Given the description of an element on the screen output the (x, y) to click on. 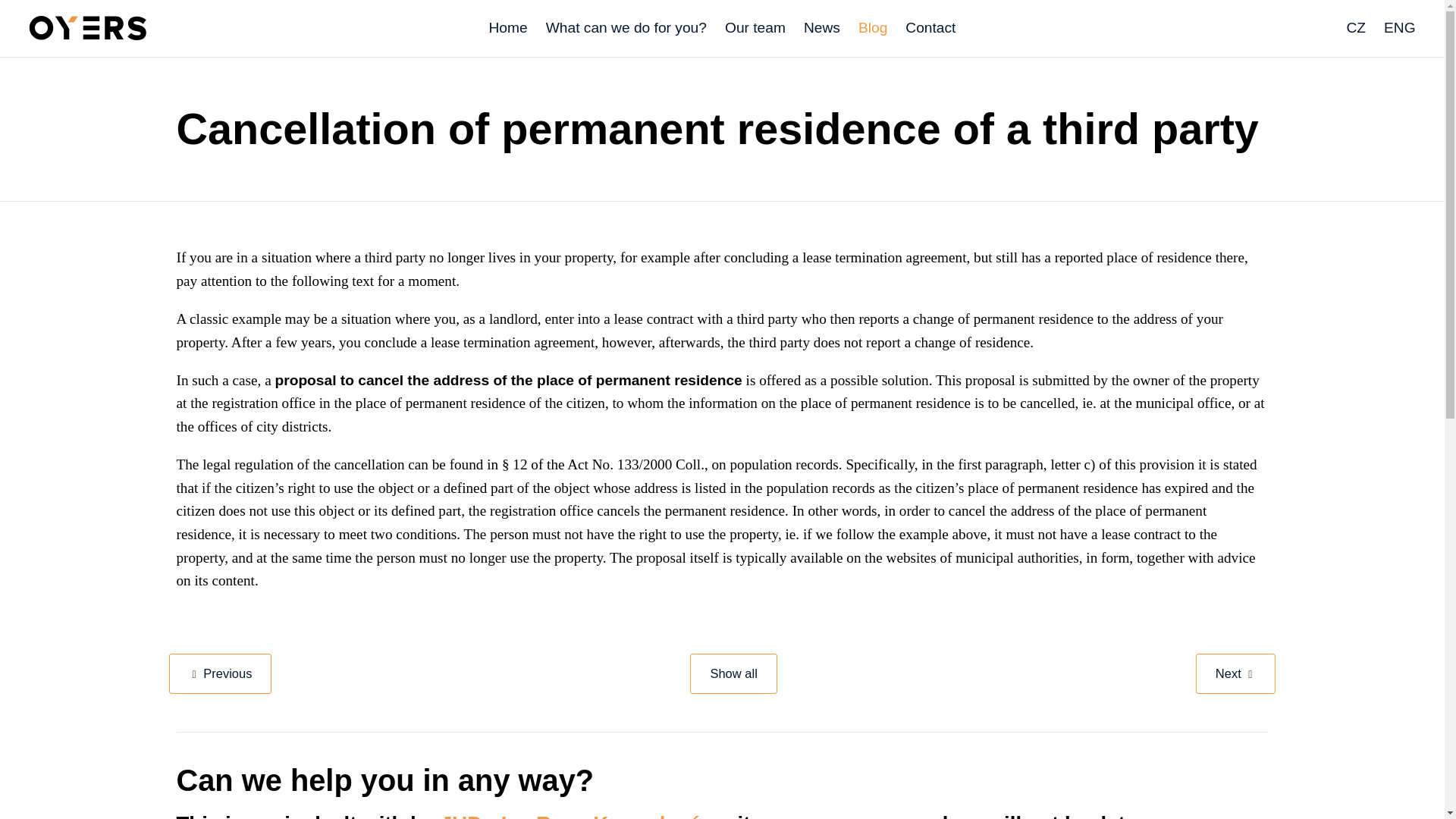
Previous (219, 672)
What can we do for you? (626, 27)
Contact (930, 27)
Next (1235, 672)
Our team (755, 27)
Show all (733, 672)
